Given the description of an element on the screen output the (x, y) to click on. 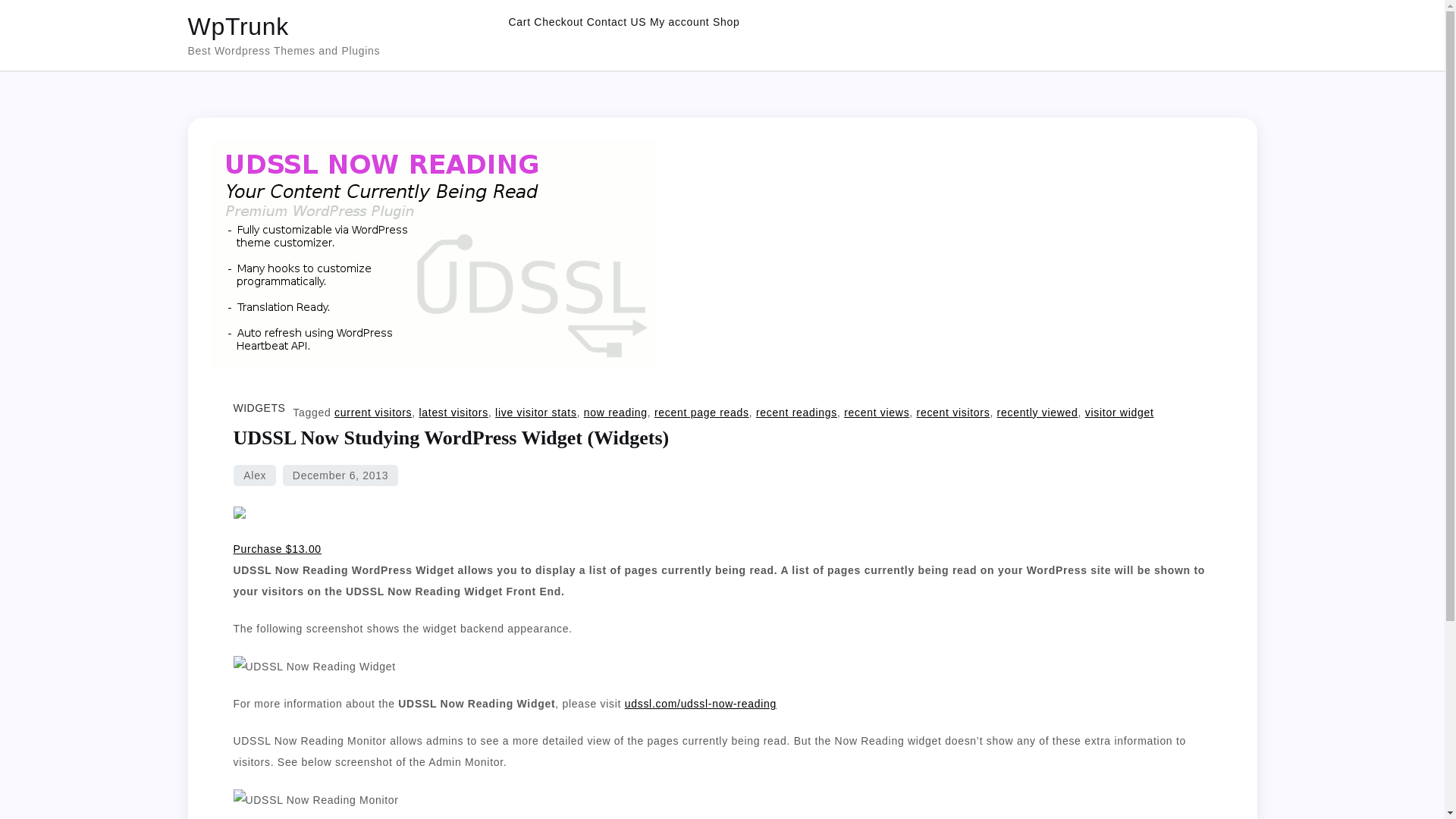
visitor widget (1119, 412)
now reading (615, 412)
Shop (726, 21)
live visitor stats (535, 412)
recent views (876, 412)
WpTrunk (238, 26)
Alex (254, 475)
December 6, 2013 (339, 475)
current visitors (373, 412)
Cart (518, 21)
